Given the description of an element on the screen output the (x, y) to click on. 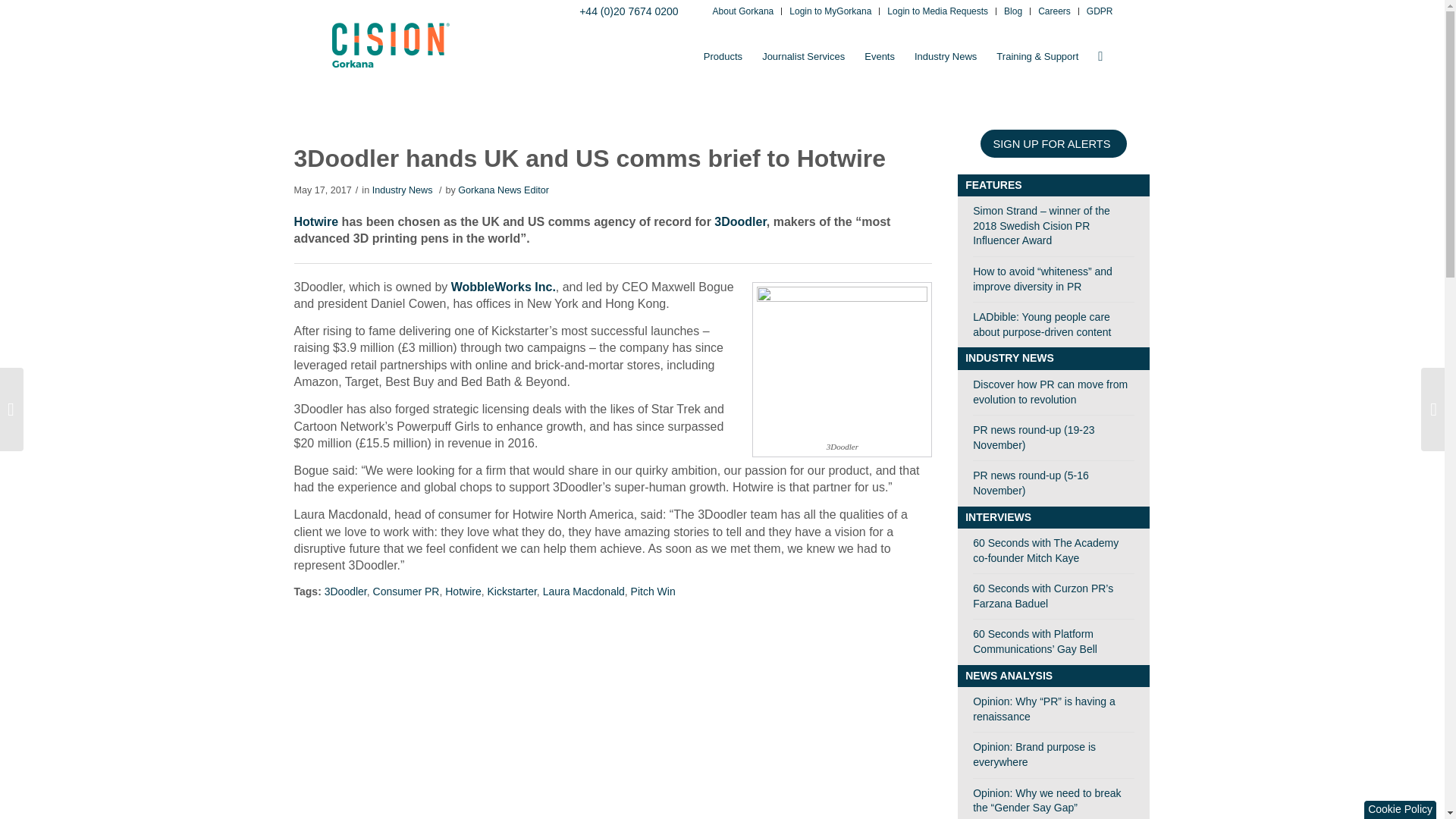
Careers (1054, 12)
Login to Media Requests (937, 12)
GDPR (1099, 12)
About Gorkana (743, 12)
Industry News (945, 56)
Journalist Services (803, 56)
Posts by Gorkana News Editor (503, 190)
3Doodler hands UK and US comms brief to Hotwire (590, 157)
Login to MyGorkana (829, 12)
